Given the description of an element on the screen output the (x, y) to click on. 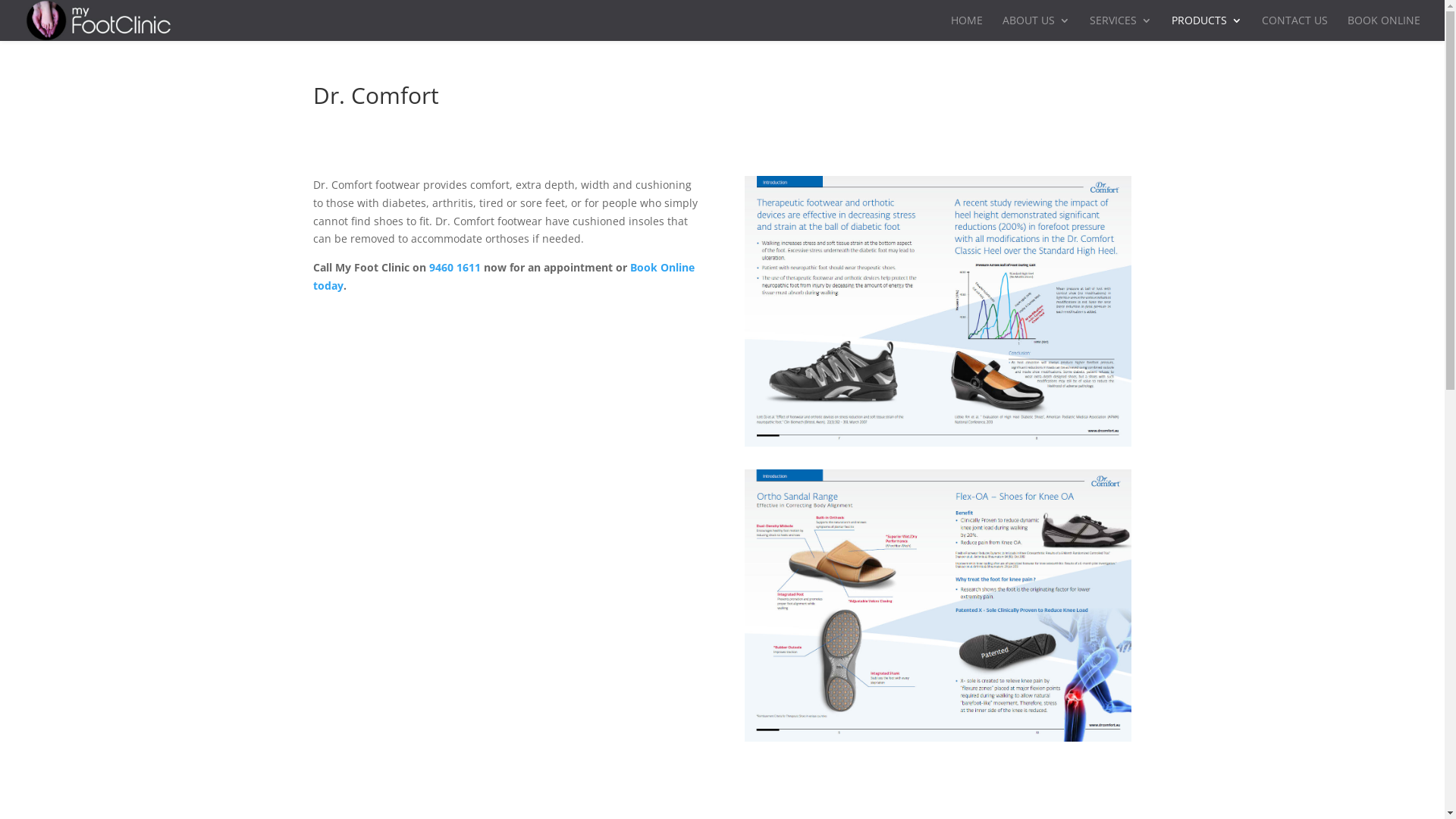
9460 1611 Element type: text (454, 267)
CONTACT US Element type: text (1294, 27)
BOOK ONLINE Element type: text (1383, 27)
SERVICES Element type: text (1120, 27)
HOME Element type: text (966, 27)
Book Online today Element type: text (502, 276)
PRODUCTS Element type: text (1206, 27)
comfort2 Element type: hover (937, 605)
comfort1 Element type: hover (937, 310)
ABOUT US Element type: text (1036, 27)
